Given the description of an element on the screen output the (x, y) to click on. 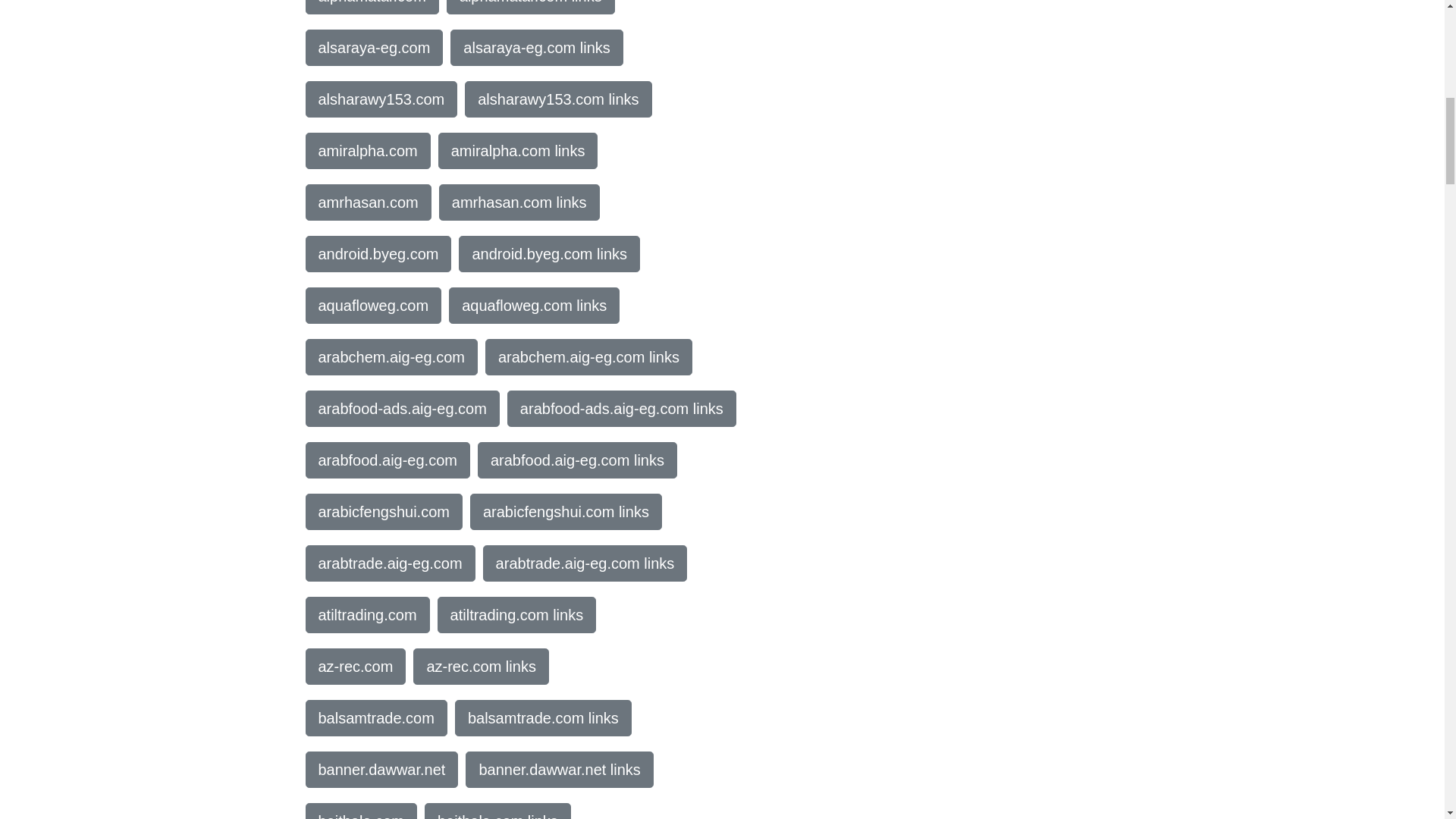
amrhasan.com links (519, 202)
amiralpha.com (366, 150)
aquafloweg.com (372, 305)
alphamatar.com links (530, 7)
alsharawy153.com links (557, 99)
amrhasan.com (367, 202)
alsaraya-eg.com (373, 47)
android.byeg.com links (549, 253)
alphamatar.com (371, 7)
android.byeg.com (377, 253)
alsaraya-eg.com links (536, 47)
alsharawy153.com (380, 99)
amiralpha.com links (518, 150)
aquafloweg.com links (534, 305)
